Given the description of an element on the screen output the (x, y) to click on. 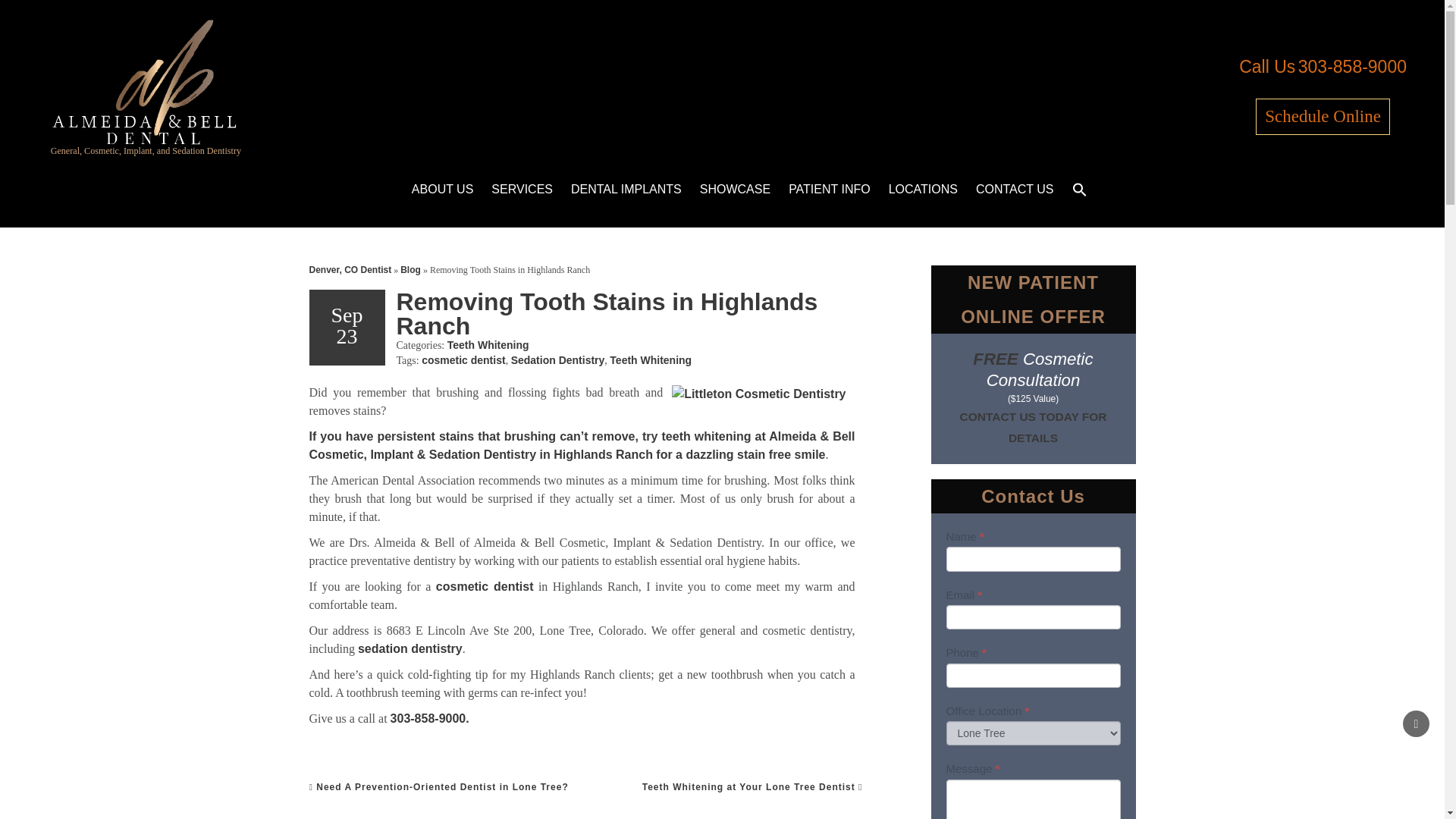
SERVICES (521, 189)
teeth whitening Highlands Ranch (706, 436)
sedation dentistry Highlands Ranch (410, 648)
cosmetic dentist Highlands Ranch (484, 585)
303-858-9000 (1352, 66)
Schedule Online (1322, 116)
ABOUT US (443, 189)
